Given the description of an element on the screen output the (x, y) to click on. 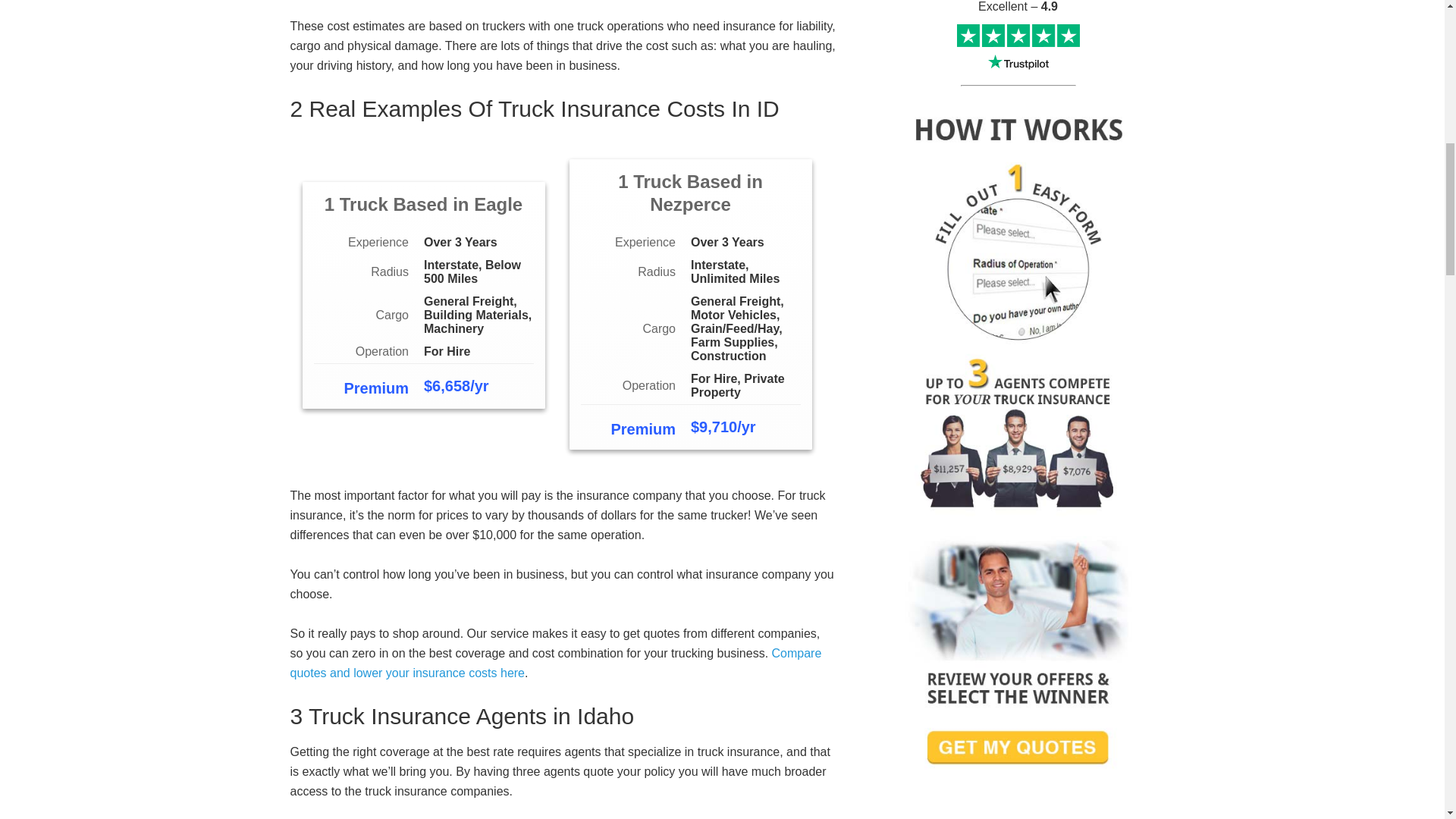
Compare quotes and lower your insurance costs here (555, 663)
